Given the description of an element on the screen output the (x, y) to click on. 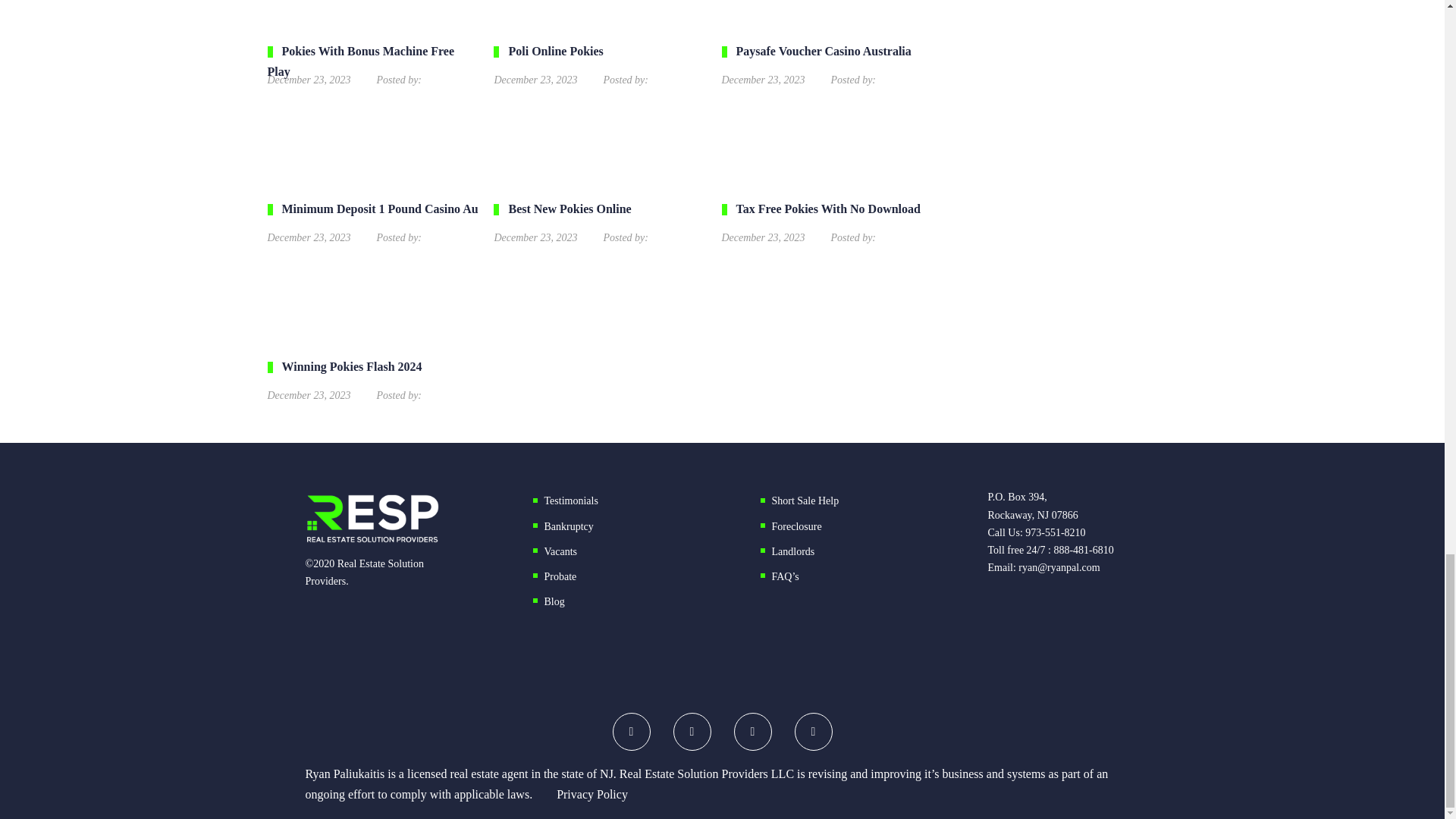
Tax Free Pokies With No Download (828, 220)
Best New Pokies Online (599, 220)
Minimum Deposit 1 Pound Casino Au (372, 220)
Pokies With Bonus Machine Free Play (372, 63)
Winning Pokies Flash 2024 (372, 378)
Poli Online Pokies (599, 63)
Paysafe Voucher Casino Australia (828, 63)
